Given the description of an element on the screen output the (x, y) to click on. 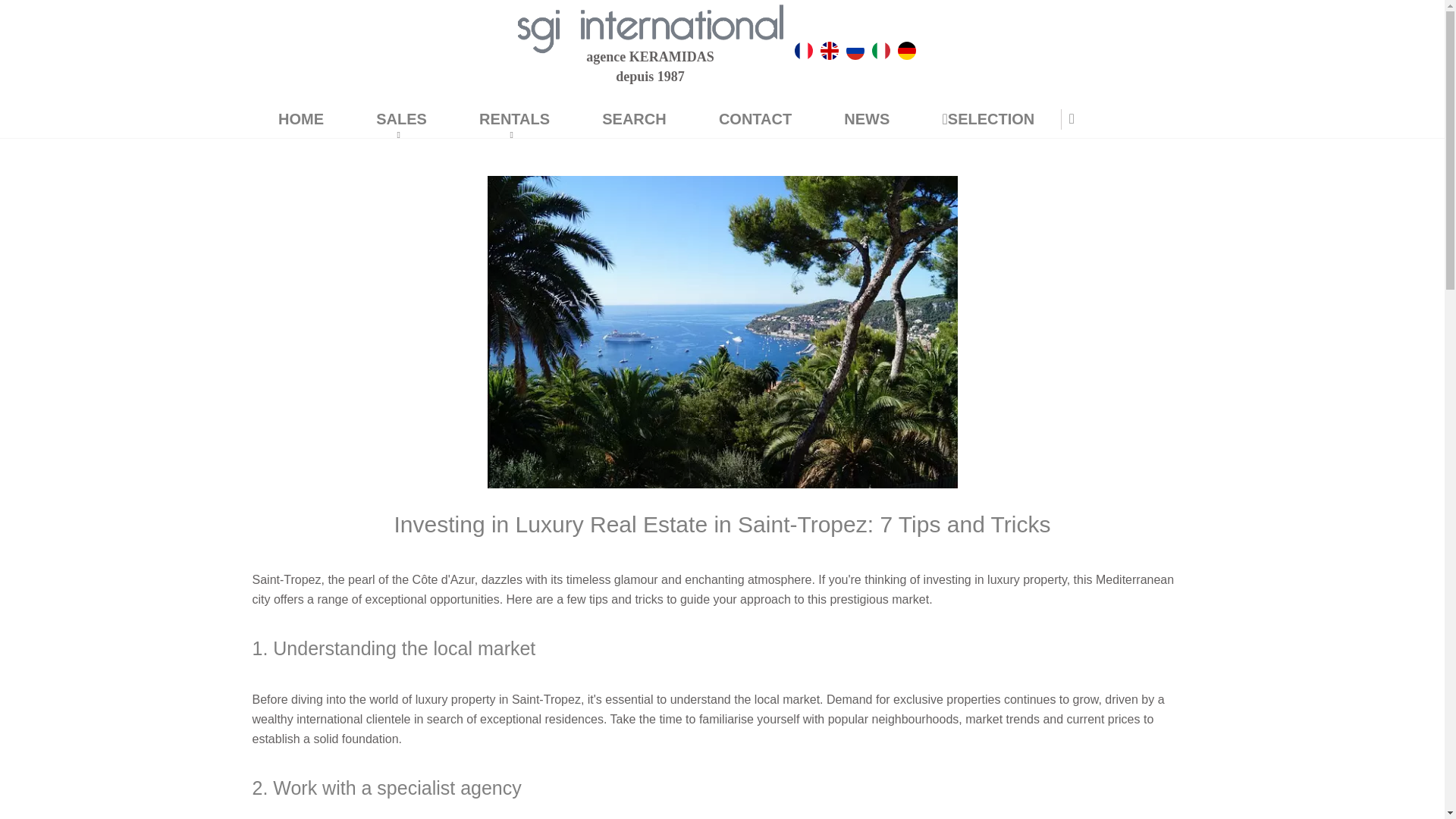
HOME (300, 121)
SEARCH (633, 121)
RENTALS (514, 121)
CONTACT (755, 121)
SELECTION (987, 121)
SALES (400, 121)
NEWS (866, 121)
